Given the description of an element on the screen output the (x, y) to click on. 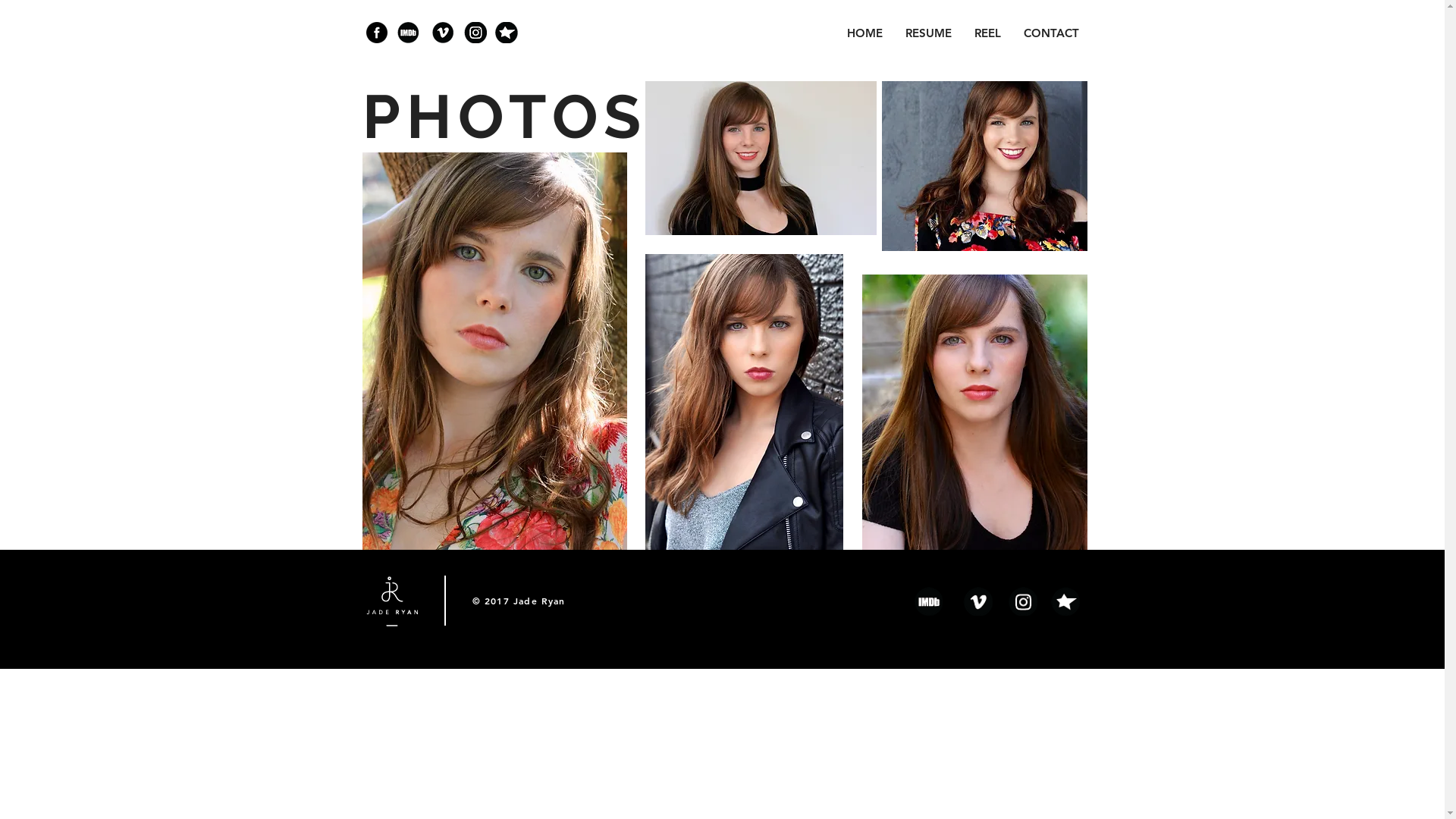
REEL Element type: text (987, 32)
RESUME Element type: text (927, 32)
CONTACT Element type: text (1050, 32)
HOME Element type: text (864, 32)
